Given the description of an element on the screen output the (x, y) to click on. 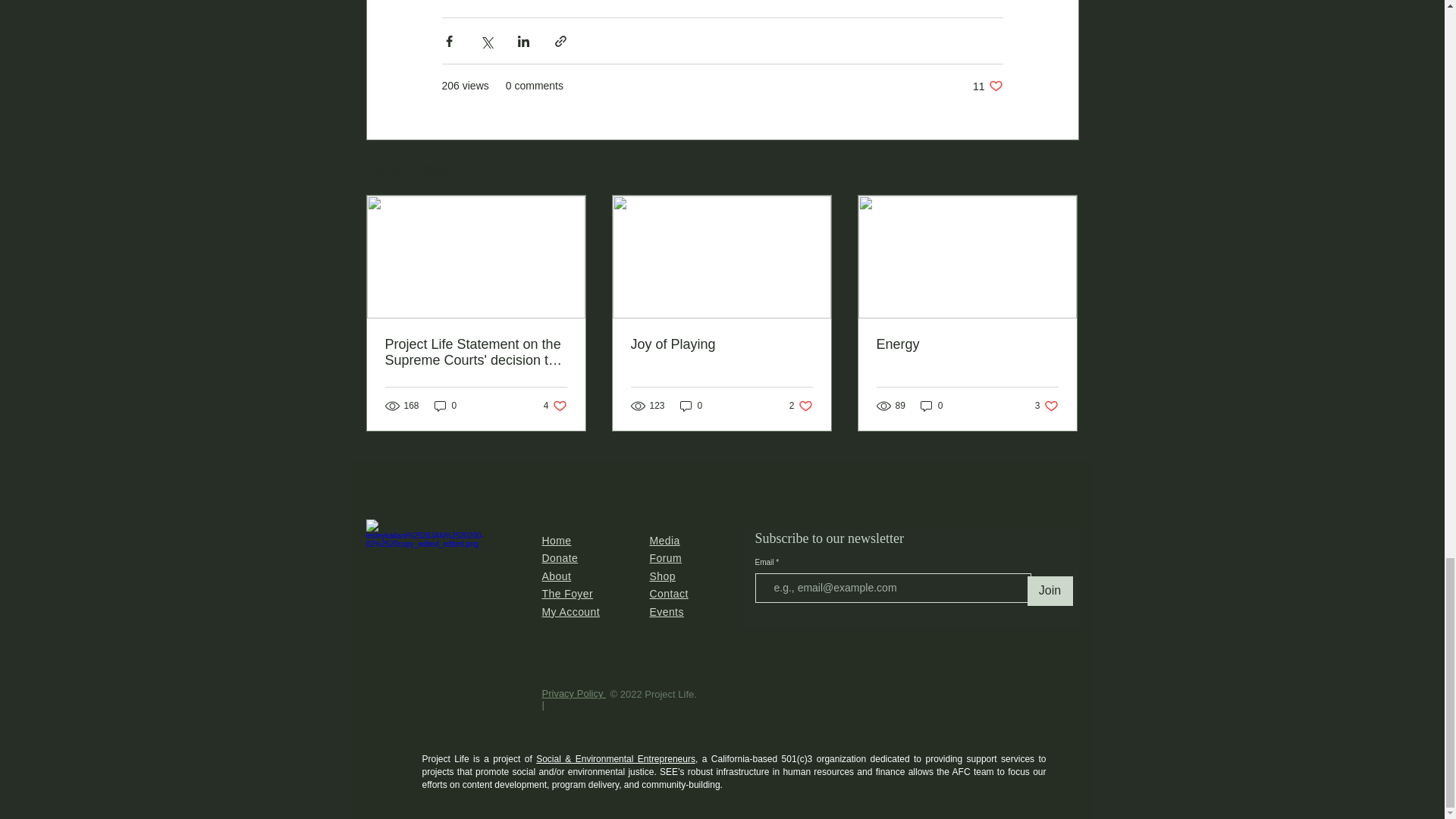
Donate (559, 558)
About (987, 85)
Home (555, 576)
0 (800, 405)
0 (555, 540)
0 (445, 405)
See All (555, 405)
